Given the description of an element on the screen output the (x, y) to click on. 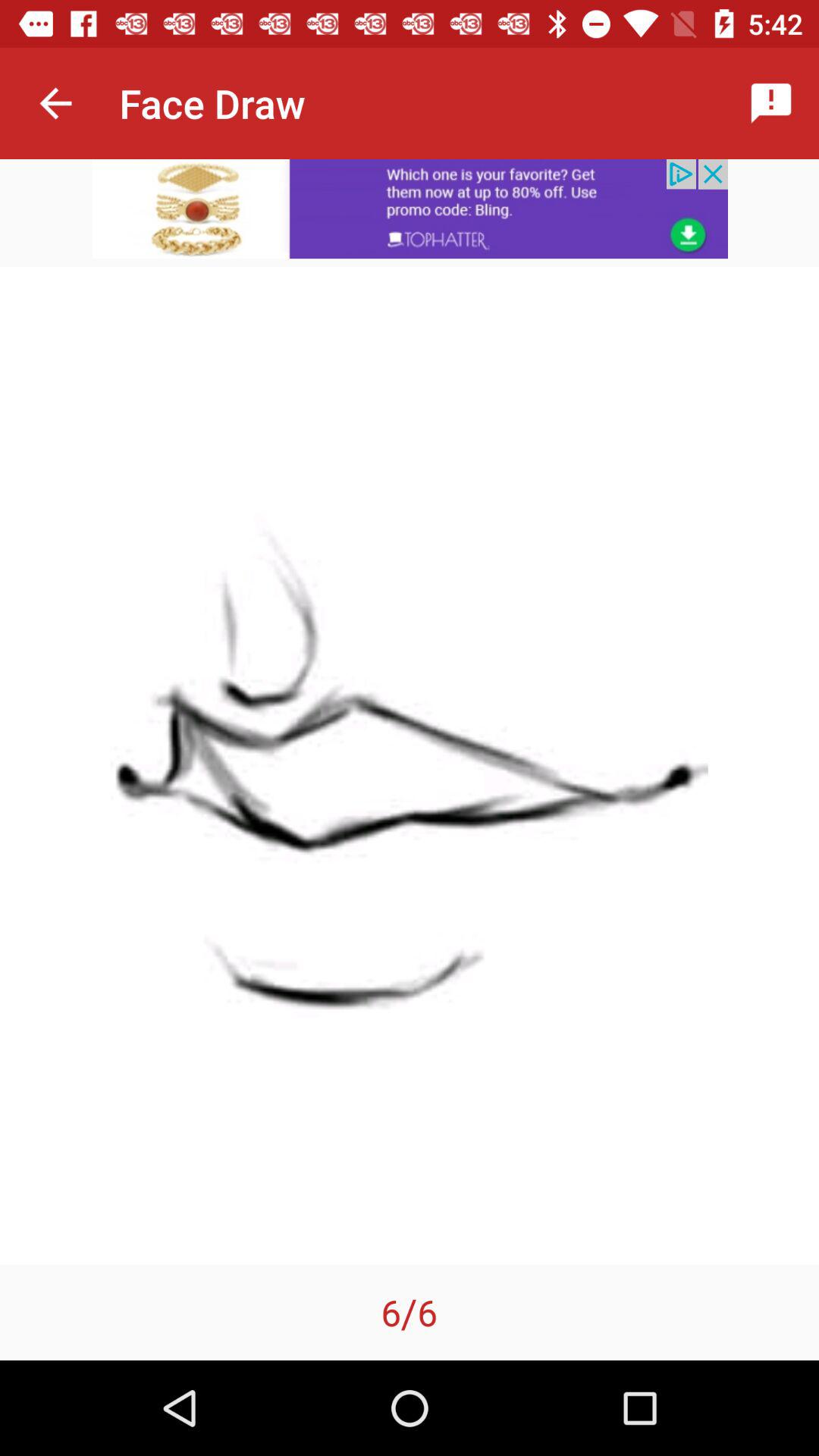
advertisement app (409, 208)
